Given the description of an element on the screen output the (x, y) to click on. 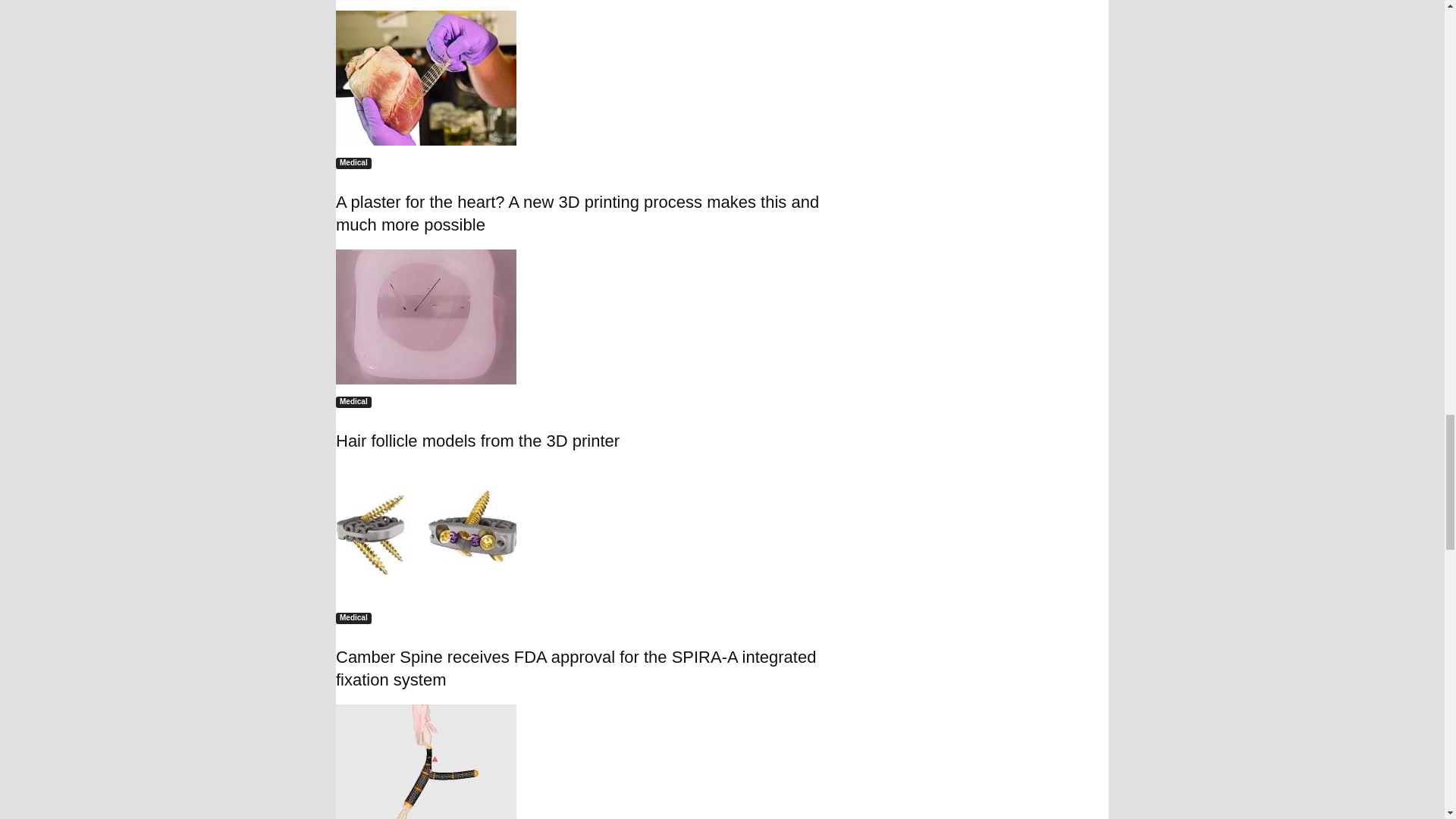
Hair follicle models from the 3D printer (593, 316)
Hair follicle models from the 3D printer (426, 316)
